Given the description of an element on the screen output the (x, y) to click on. 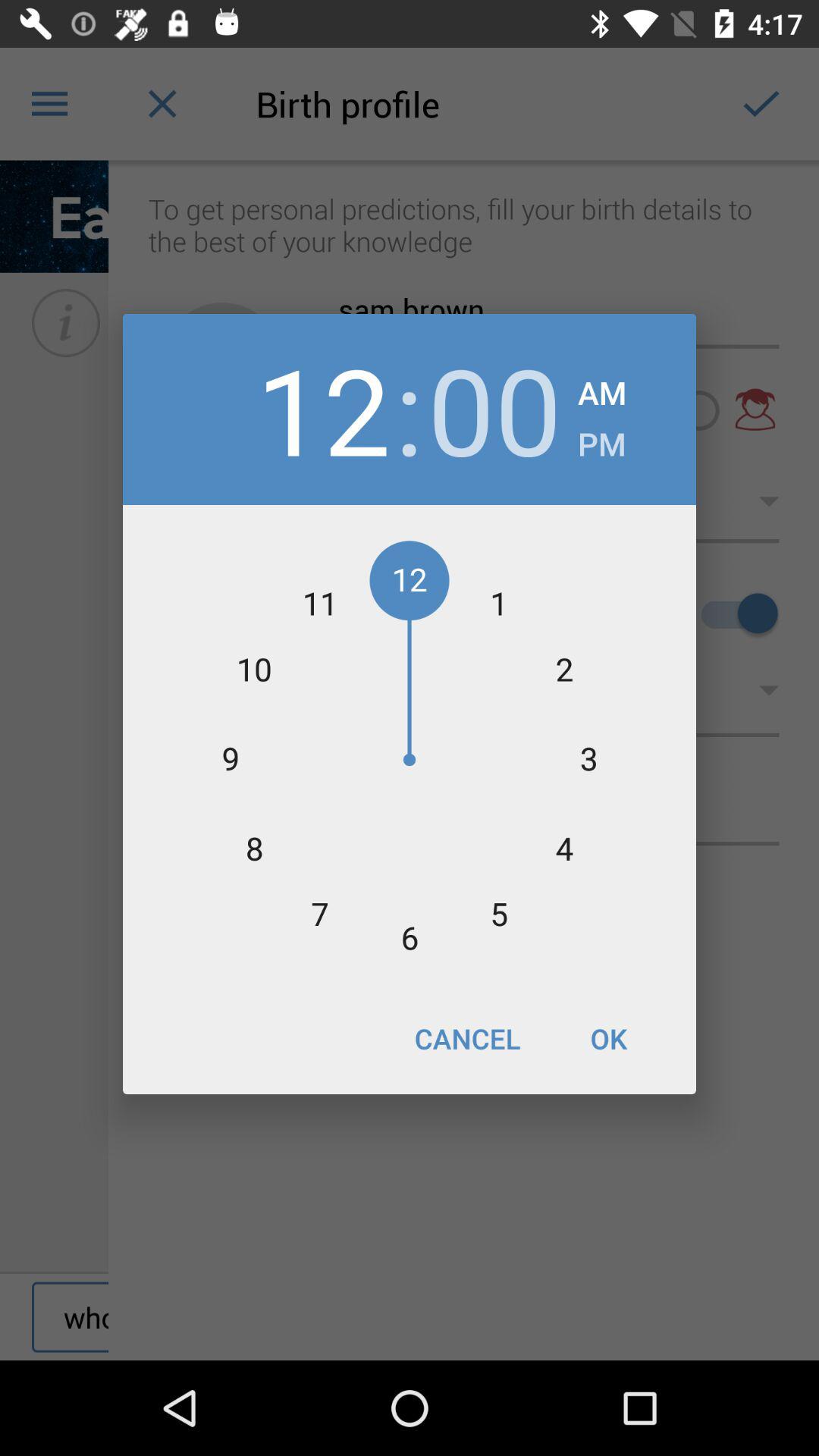
launch the item below the am icon (601, 439)
